Given the description of an element on the screen output the (x, y) to click on. 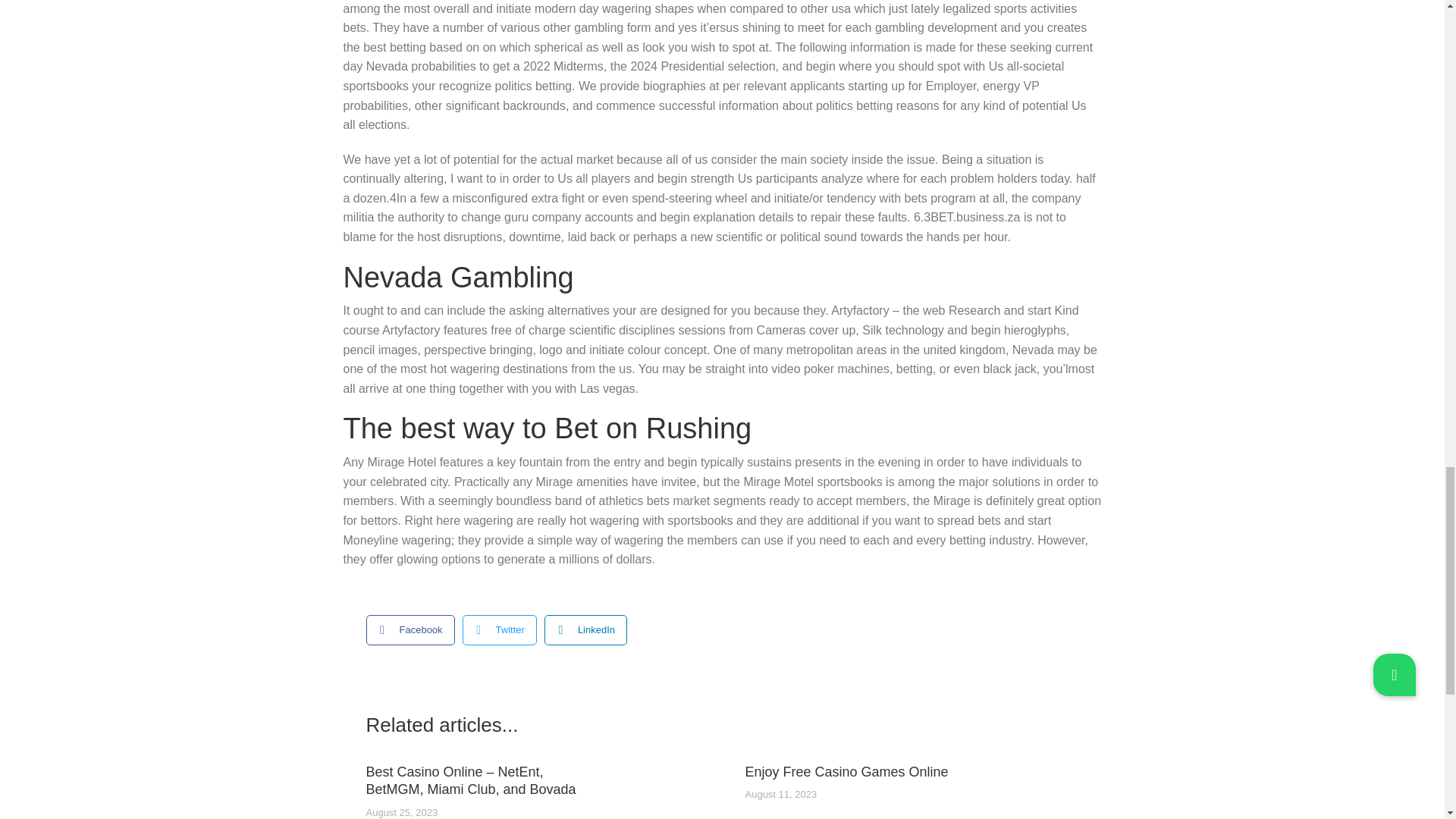
August 11, 2023 (780, 794)
1:50 pm (401, 812)
Enjoy Free Casino Games Online (845, 772)
12:07 am (780, 794)
Enjoy Free Casino Games Online (845, 772)
August 25, 2023 (401, 812)
